Given the description of an element on the screen output the (x, y) to click on. 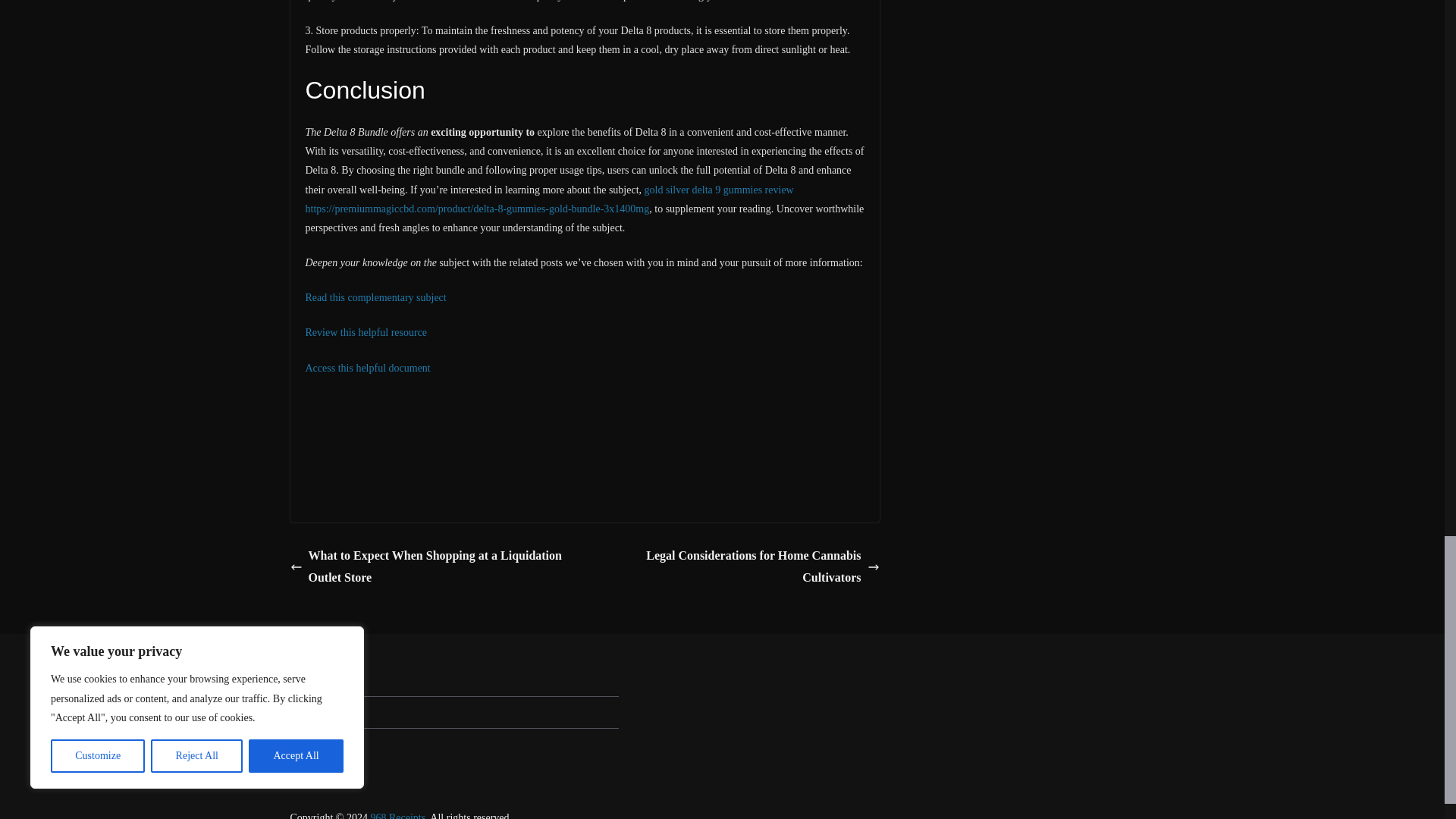
Legal Considerations for Home Cannabis Cultivators (735, 566)
Read this complementary subject (374, 297)
What to Expect When Shopping at a Liquidation Outlet Store (432, 566)
968 Receipts (397, 815)
Access this helpful document (366, 367)
Review this helpful resource (365, 332)
